Given the description of an element on the screen output the (x, y) to click on. 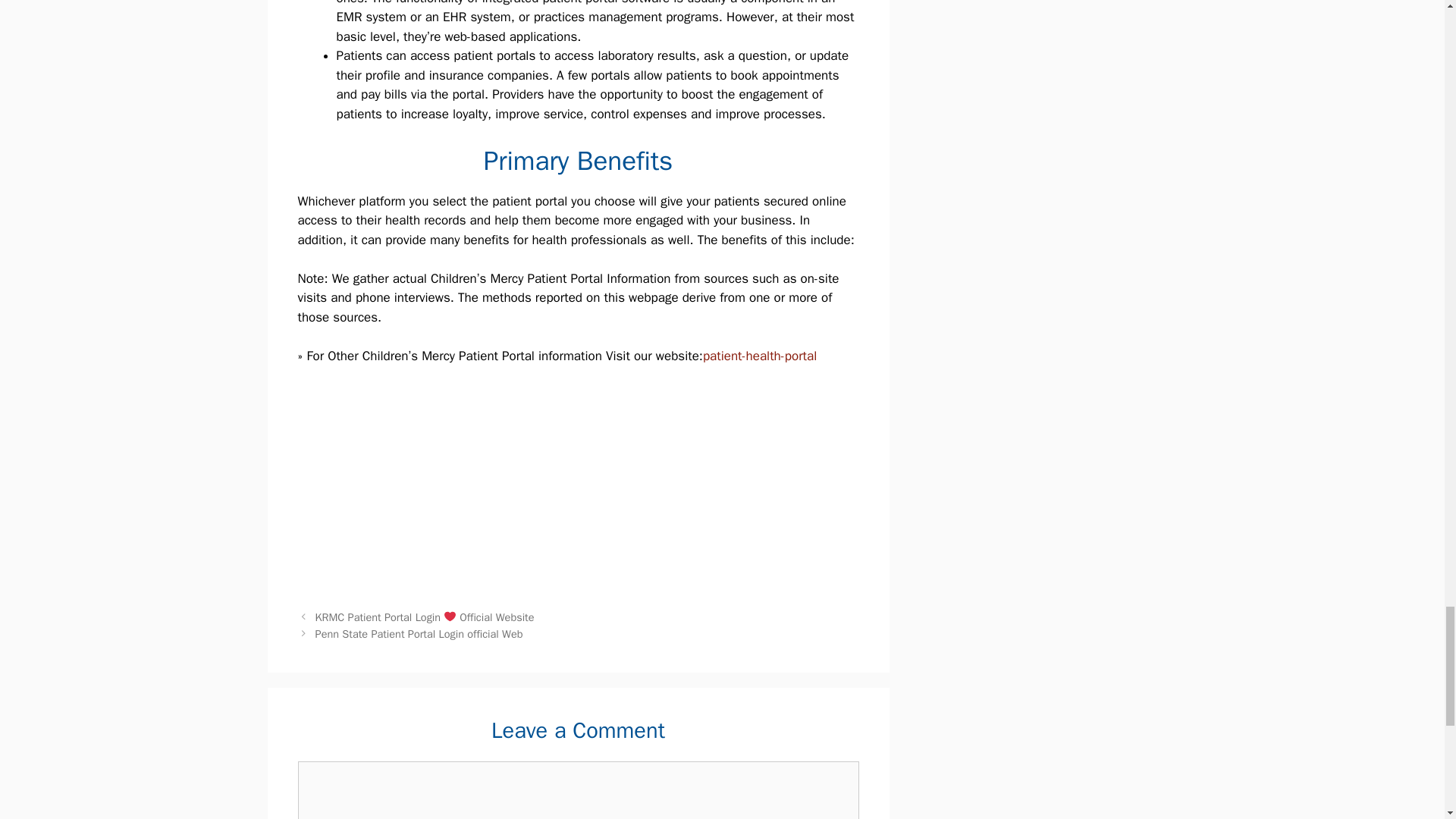
patient-health-portal (759, 355)
KRMC Patient Portal Login Official Website (424, 617)
Penn State Patient Portal Login official Web (418, 633)
